Given the description of an element on the screen output the (x, y) to click on. 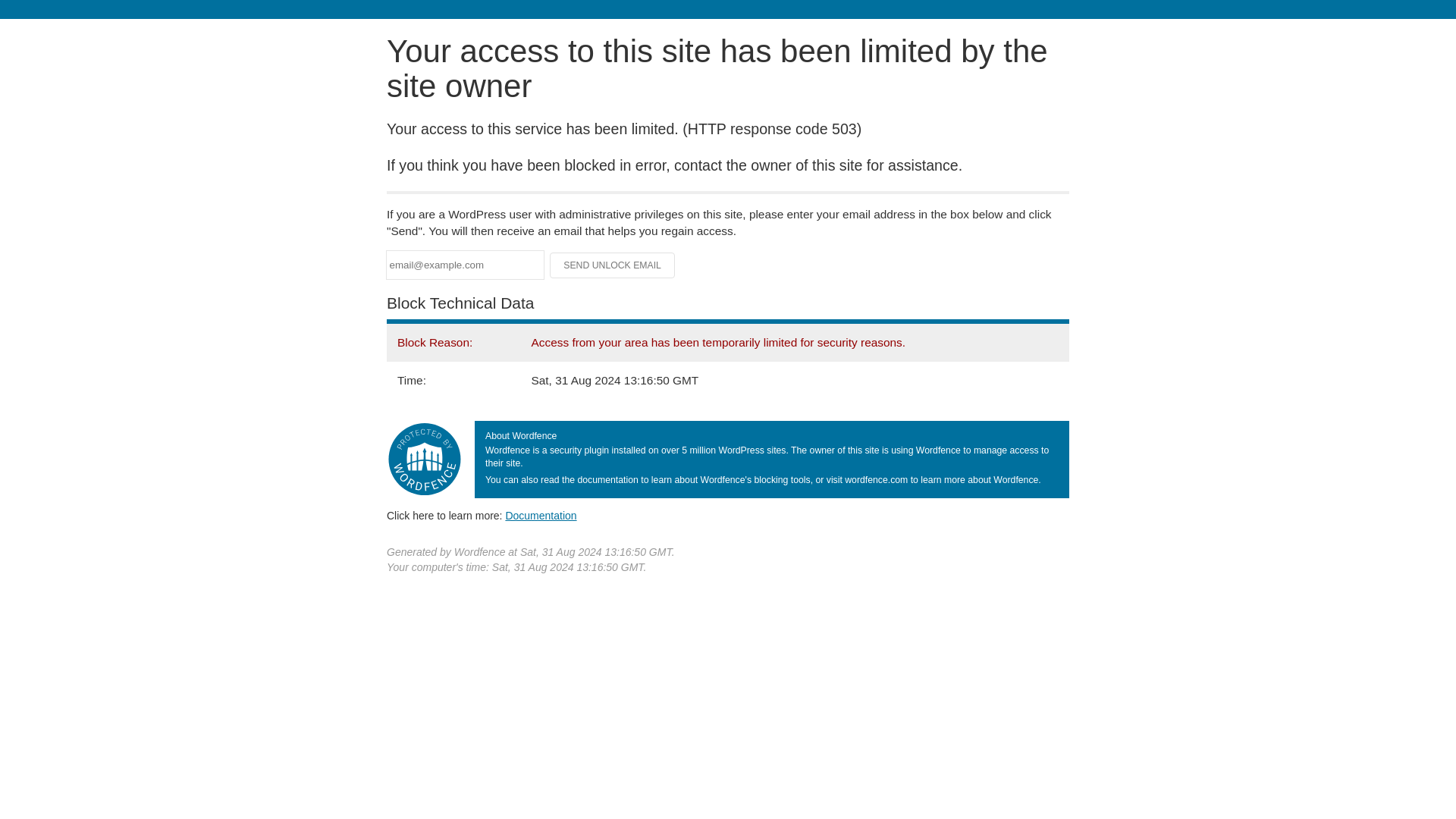
Send Unlock Email (612, 265)
Send Unlock Email (612, 265)
Documentation (540, 515)
